Given the description of an element on the screen output the (x, y) to click on. 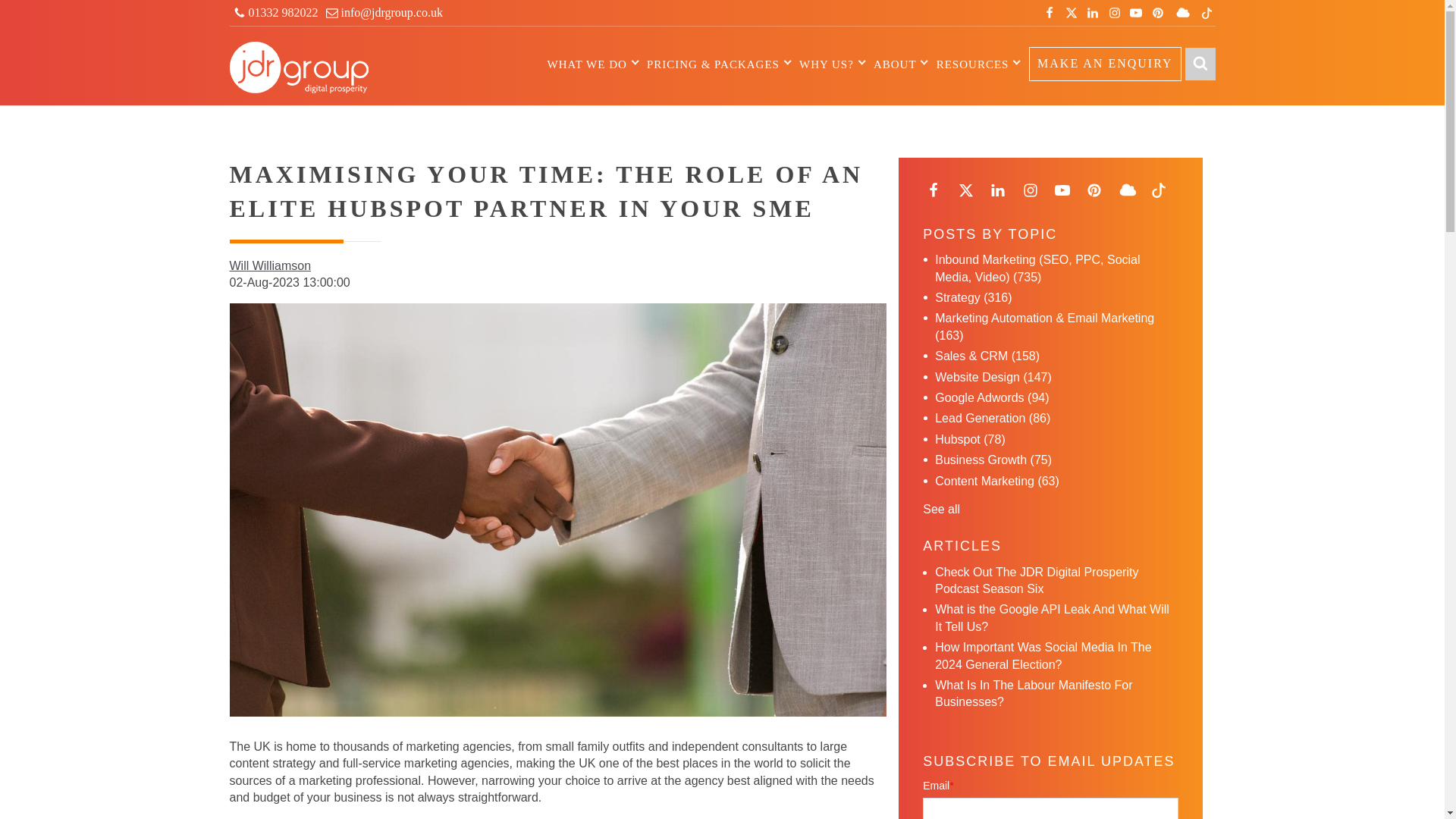
01332 982022 (274, 12)
WHAT WE DO (587, 64)
